Given the description of an element on the screen output the (x, y) to click on. 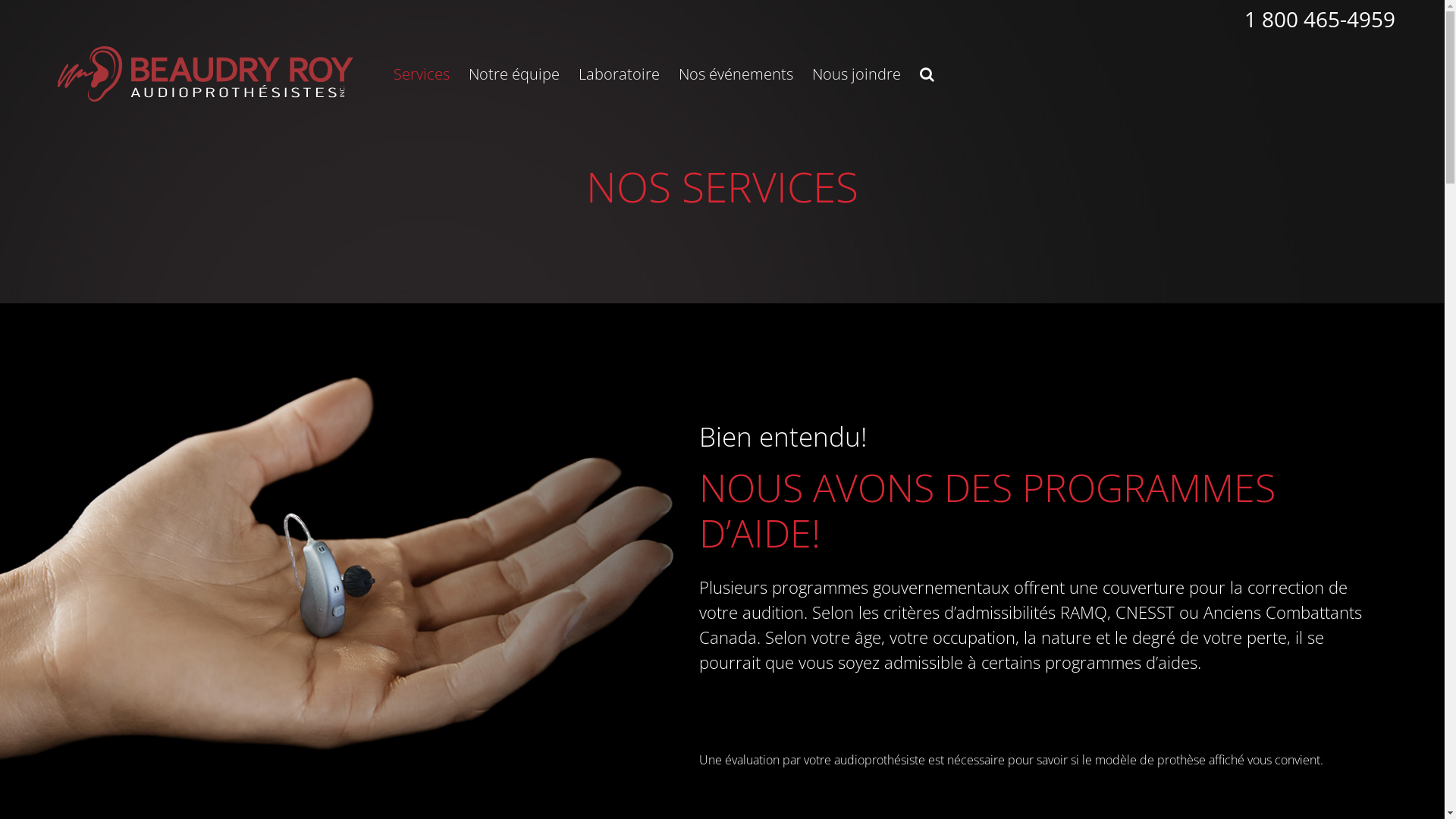
1 800 465-4959 Element type: text (1319, 18)
Services Element type: text (421, 73)
Recherche Element type: hover (926, 73)
Nous joindre Element type: text (856, 73)
Laboratoire Element type: text (618, 73)
